Given the description of an element on the screen output the (x, y) to click on. 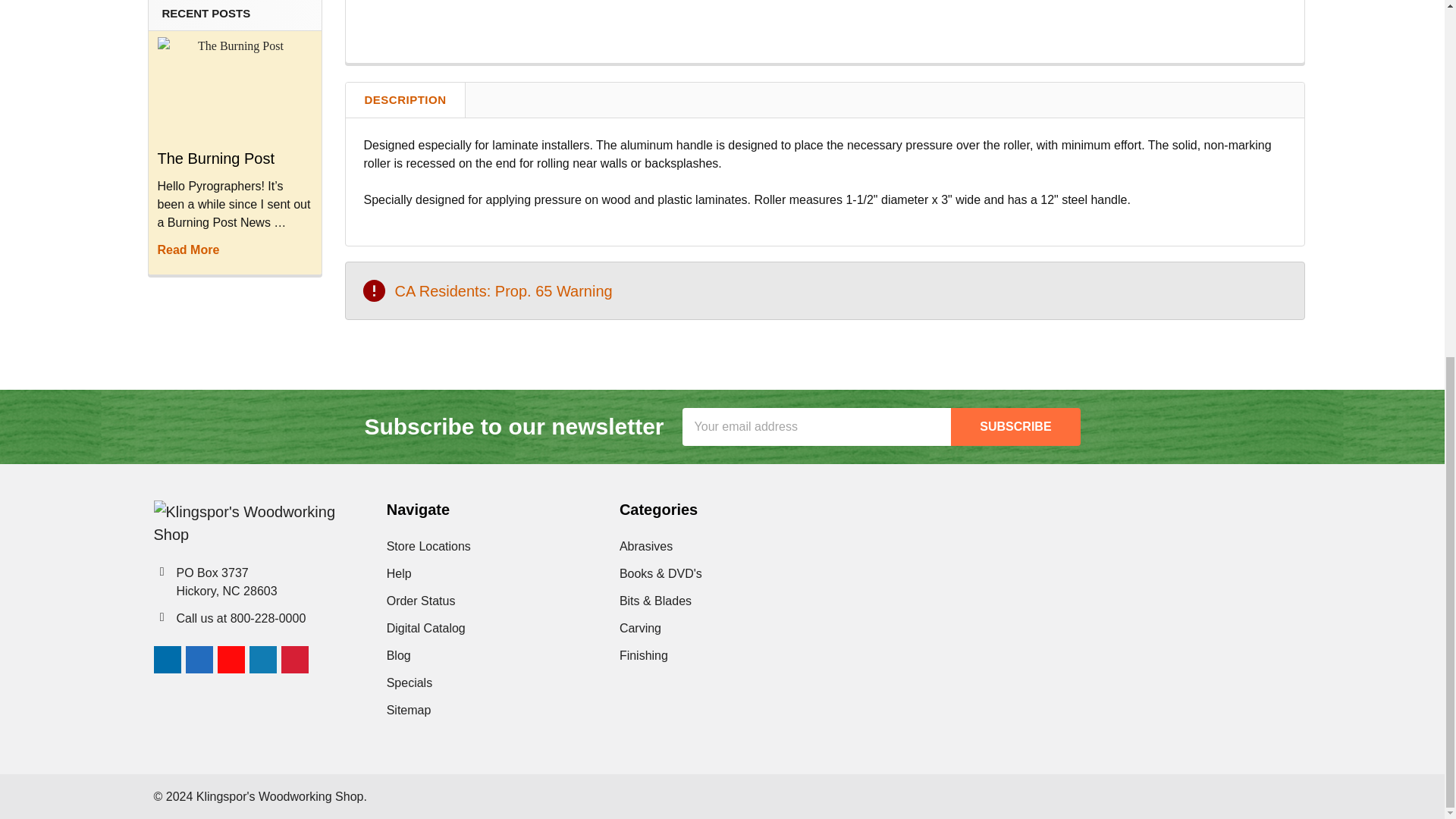
Facebook (198, 659)
Pinterest (294, 659)
Instagram (166, 659)
Klingspor's Woodworking Shop (255, 523)
The Burning Post (235, 88)
X (326, 659)
Linkedin (262, 659)
Subscribe (1015, 426)
Youtube (230, 659)
